Given the description of an element on the screen output the (x, y) to click on. 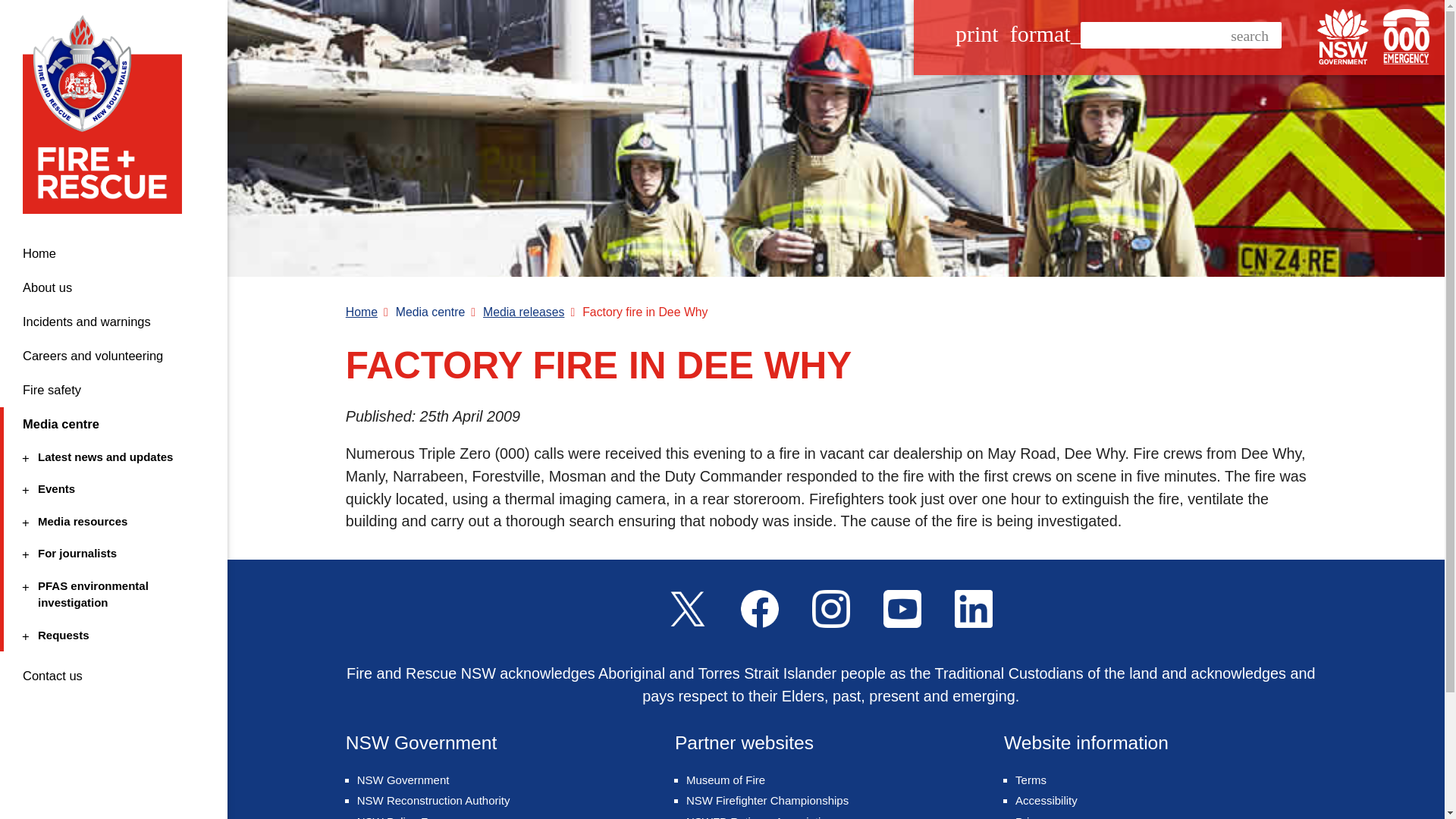
Events (111, 488)
NSW Government (1342, 36)
Media resources (111, 521)
Home (113, 253)
Fire and Rescue NSW (107, 114)
Latest news and updates (111, 457)
For journalists (111, 553)
